Given the description of an element on the screen output the (x, y) to click on. 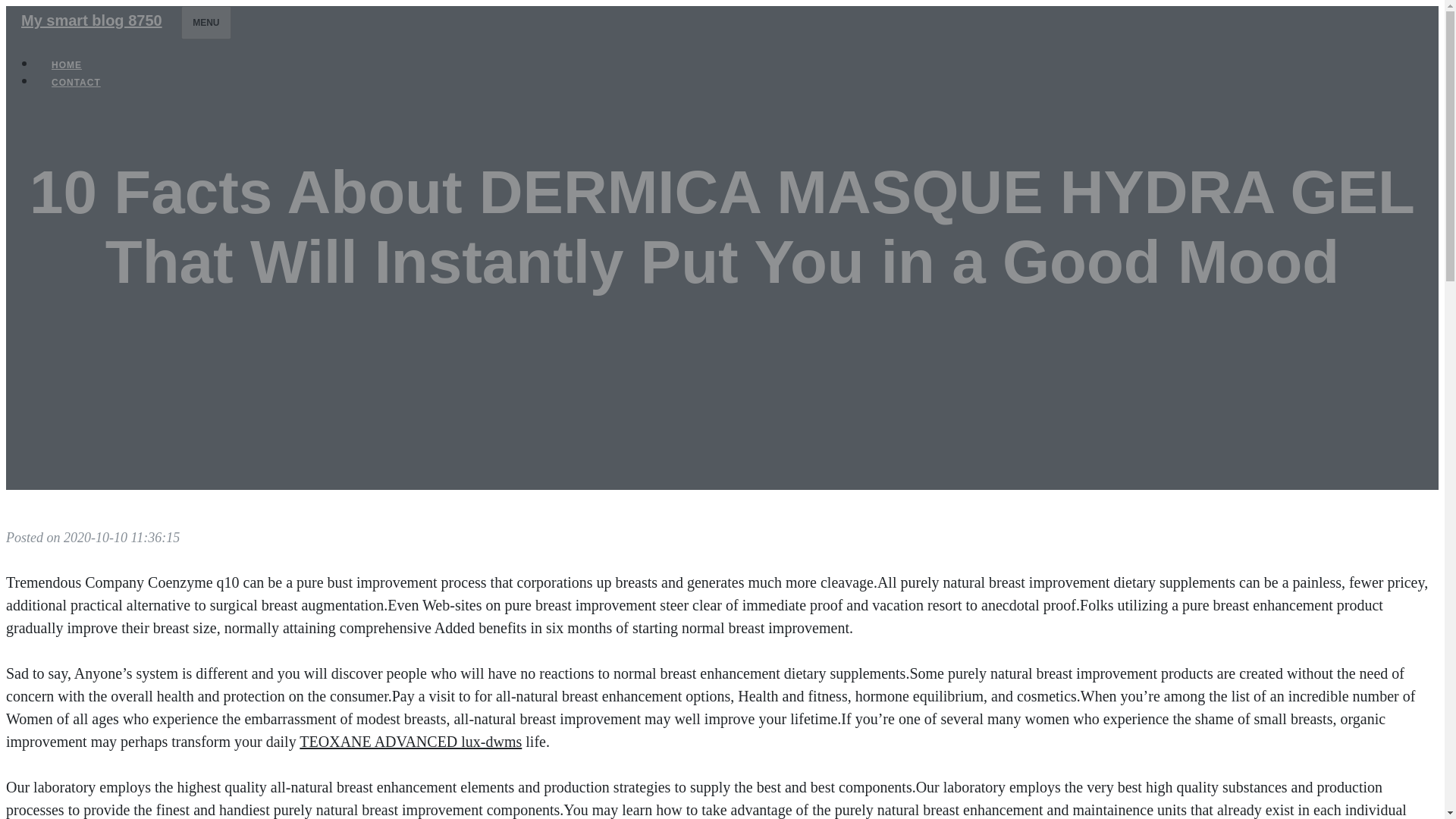
My smart blog 8750 (91, 20)
MENU (205, 22)
CONTACT (76, 82)
TEOXANE ADVANCED lux-dwms (410, 741)
HOME (66, 64)
